Given the description of an element on the screen output the (x, y) to click on. 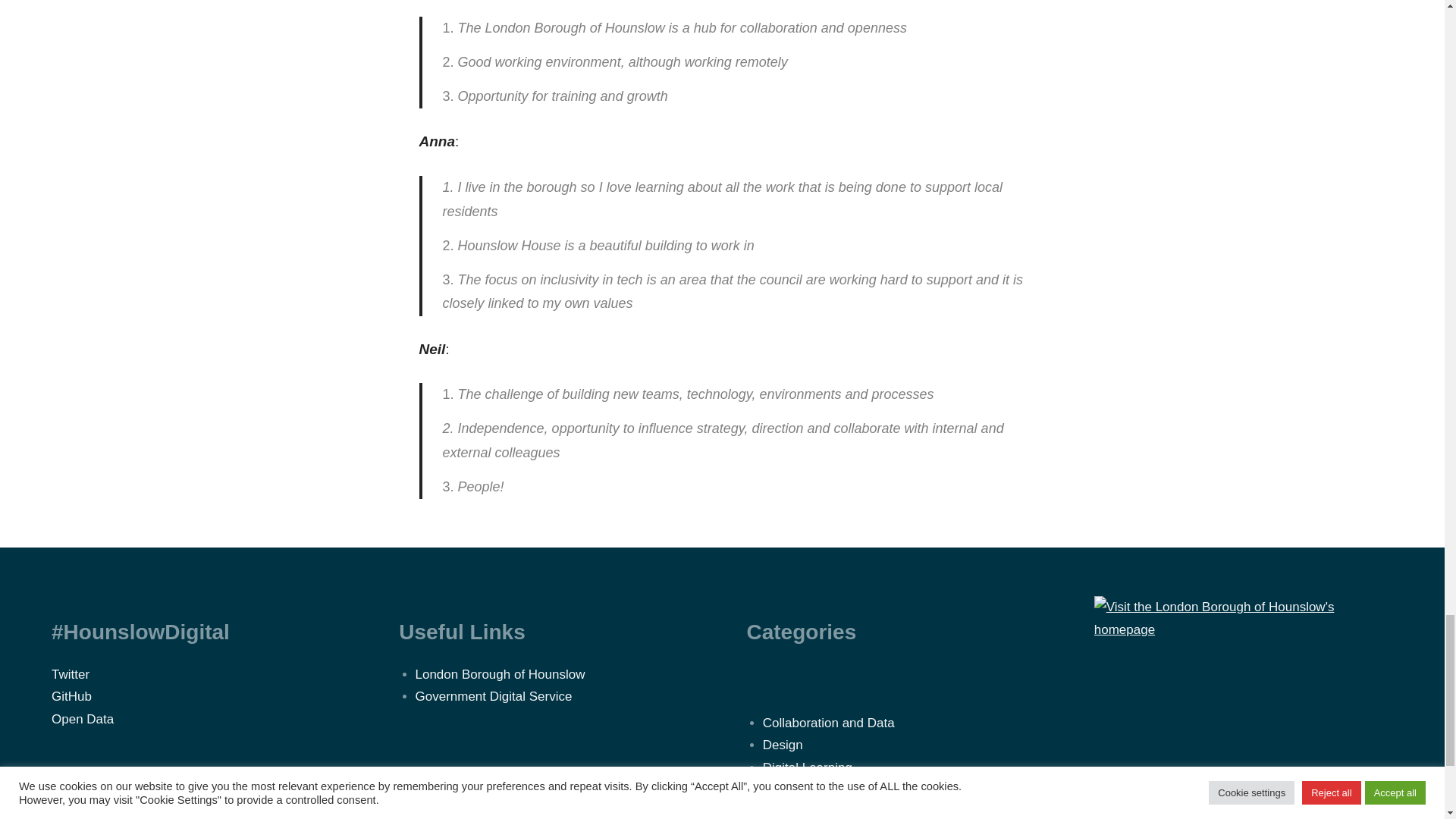
Government Digital Service (493, 696)
Open Data (81, 718)
Collaboration and Data (828, 722)
GitHub (70, 696)
Twitter (69, 674)
Place and Community (825, 812)
London Borough of Hounslow (499, 674)
General (785, 789)
Design (782, 744)
Digital Learning (806, 767)
